Given the description of an element on the screen output the (x, y) to click on. 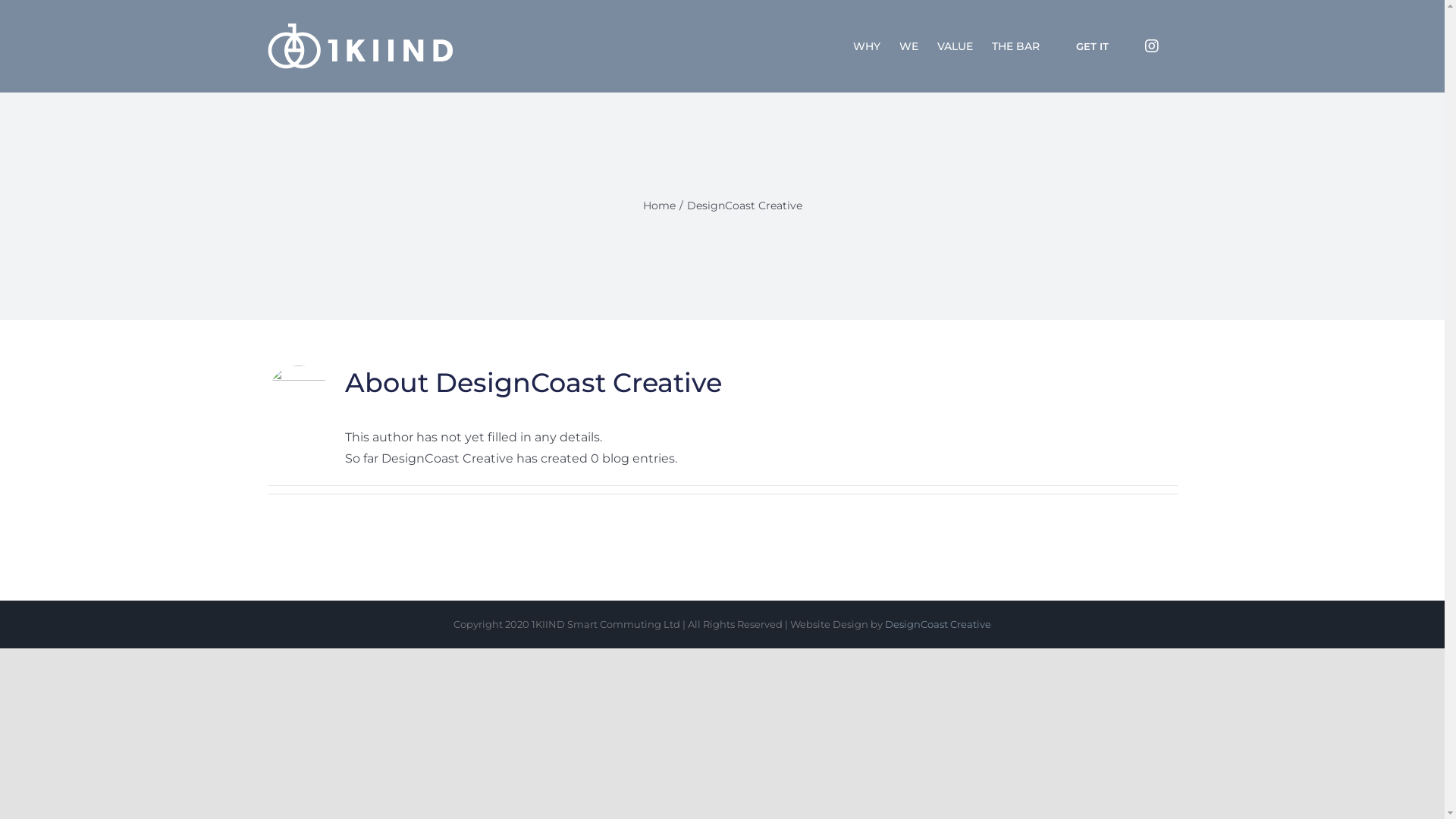
DesignCoast Creative Element type: text (937, 624)
VALUE Element type: text (954, 46)
GET IT Element type: text (1092, 46)
WE Element type: text (908, 46)
Home Element type: text (659, 205)
WHY Element type: text (865, 46)
THE BAR Element type: text (1015, 46)
